Given the description of an element on the screen output the (x, y) to click on. 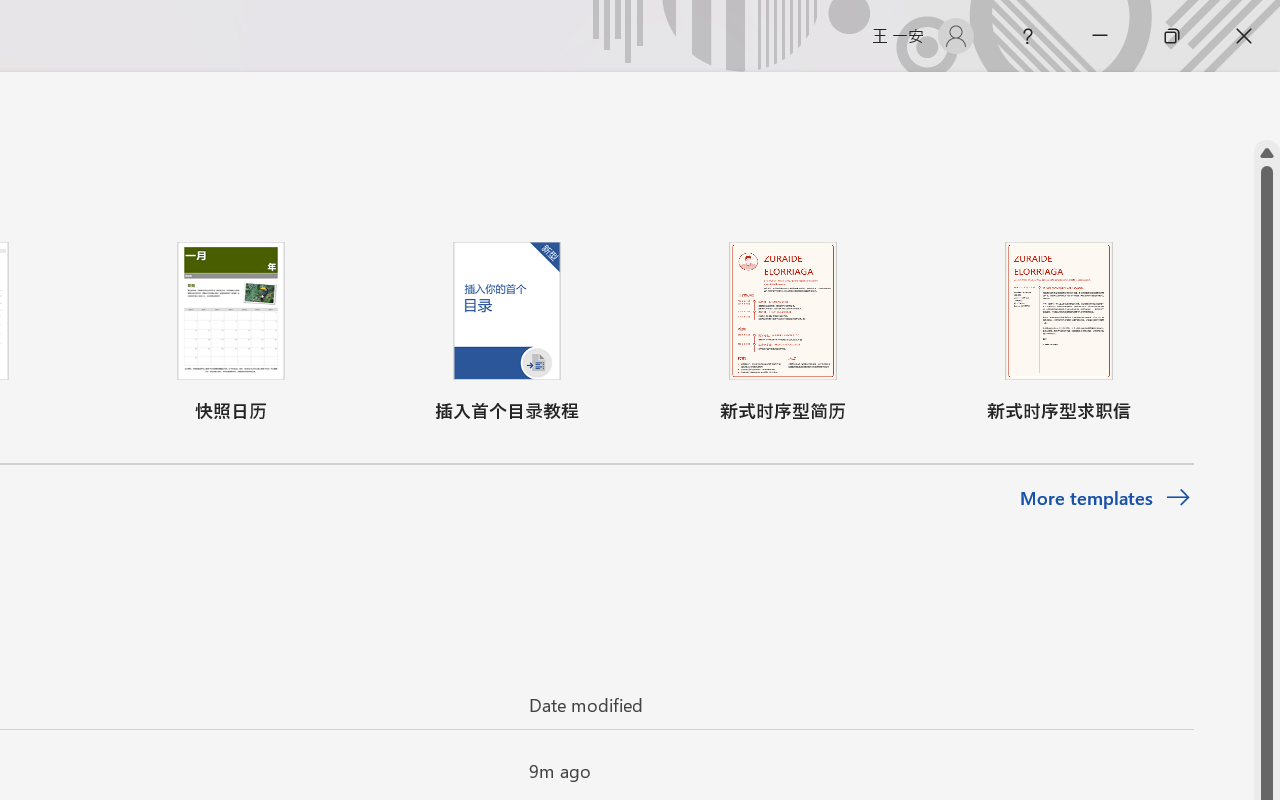
Restore Down (1172, 36)
Line up (1267, 153)
Help (1027, 36)
Pin this item to the list (480, 770)
Close (1244, 36)
Minimize (1099, 36)
More templates (1105, 498)
Class: NetUIScrollBar (1267, 106)
